Given the description of an element on the screen output the (x, y) to click on. 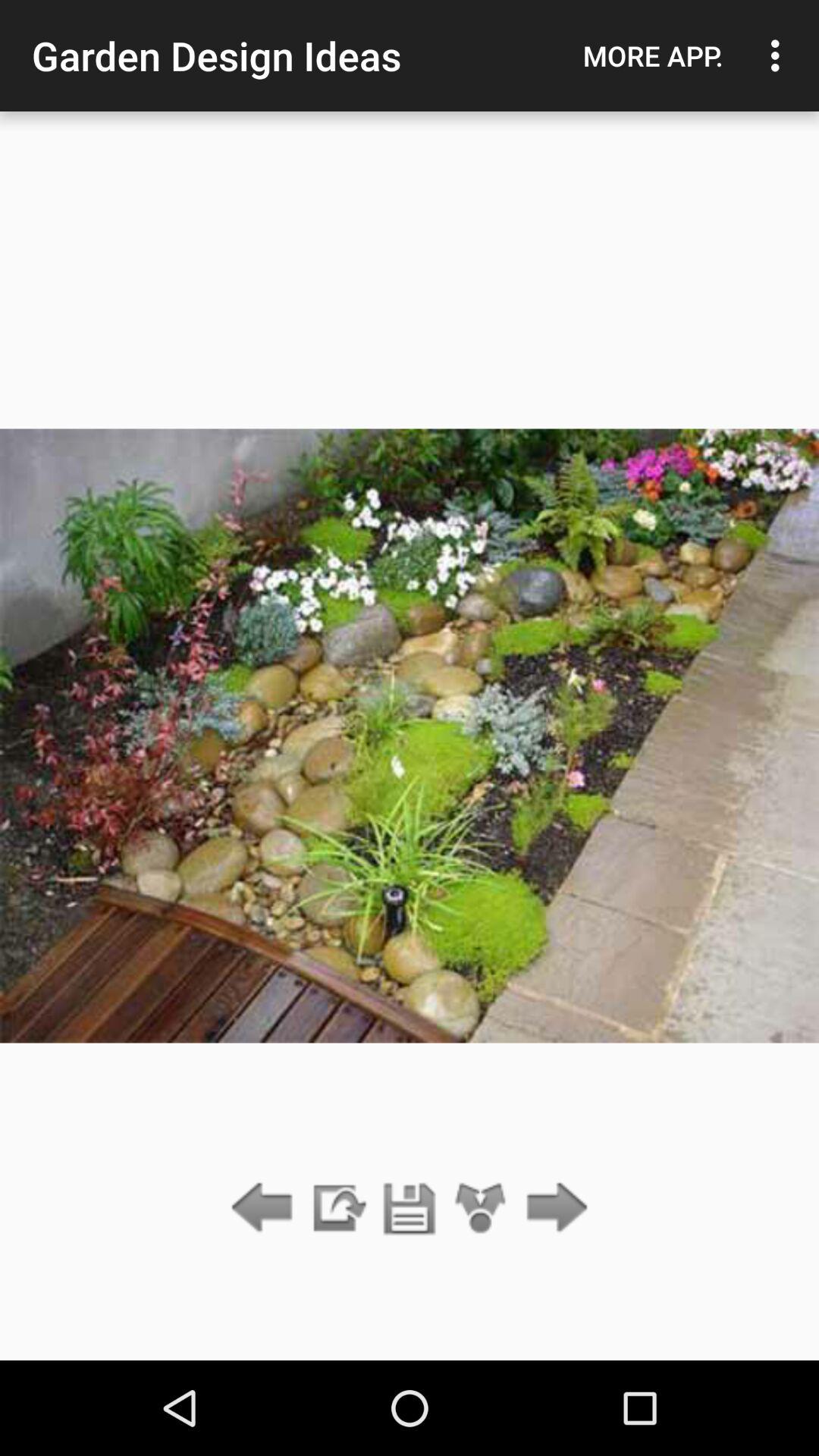
open the app to the right of the garden design ideas (653, 55)
